Given the description of an element on the screen output the (x, y) to click on. 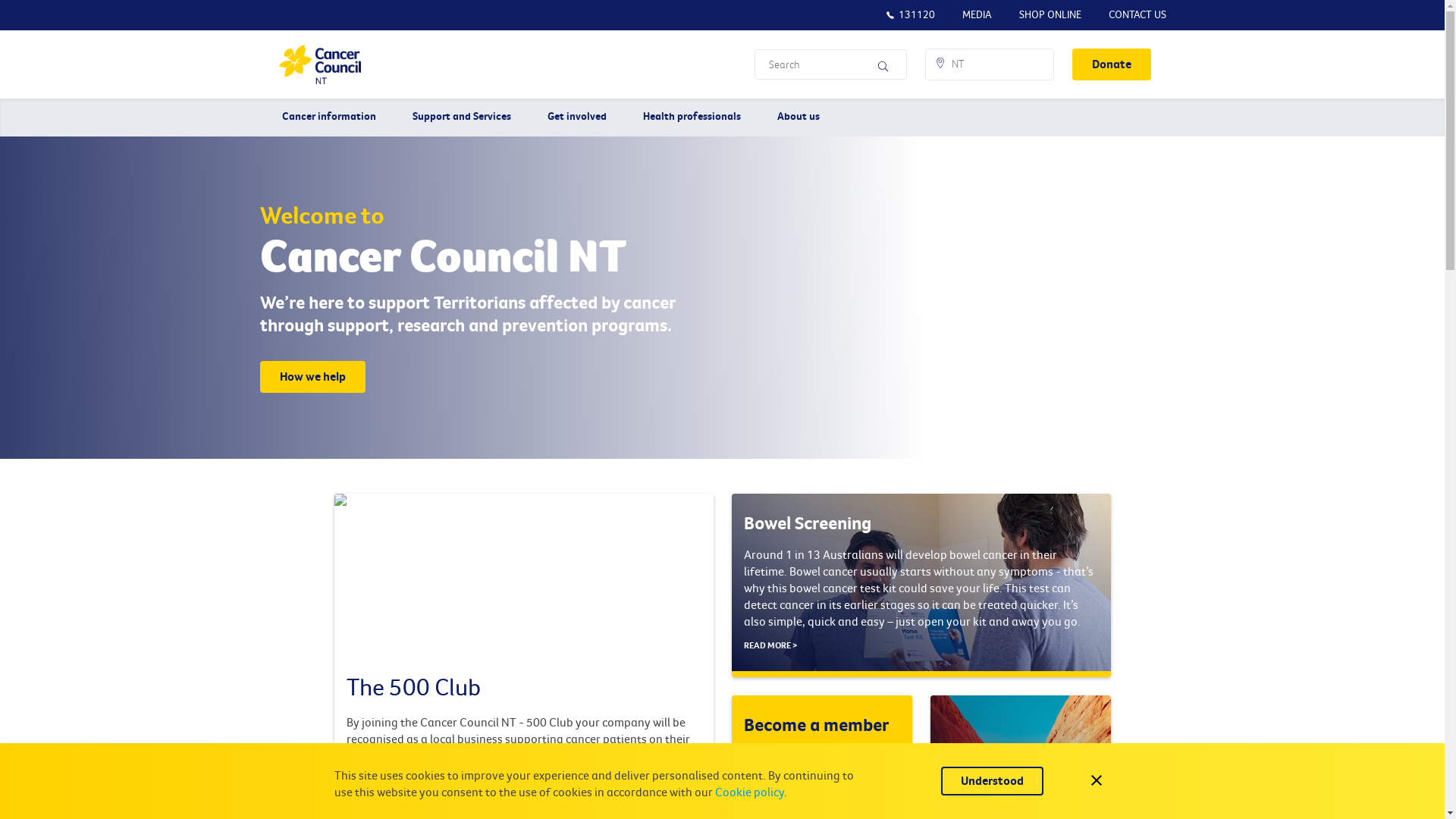
close Element type: hover (1096, 781)
Health professionals Element type: text (691, 117)
MEDIA Element type: text (976, 14)
How we help Element type: text (312, 376)
Cancer information Element type: text (329, 117)
SHOP ONLINE Element type: text (1050, 14)
Understood Element type: text (992, 780)
CONTACT US Element type: text (1137, 14)
131120 Element type: text (909, 14)
Get involved Element type: text (576, 117)
About us Element type: text (798, 117)
Support and Services Element type: text (461, 117)
Cookie policy Element type: text (749, 792)
Donate Element type: text (1111, 64)
